Given the description of an element on the screen output the (x, y) to click on. 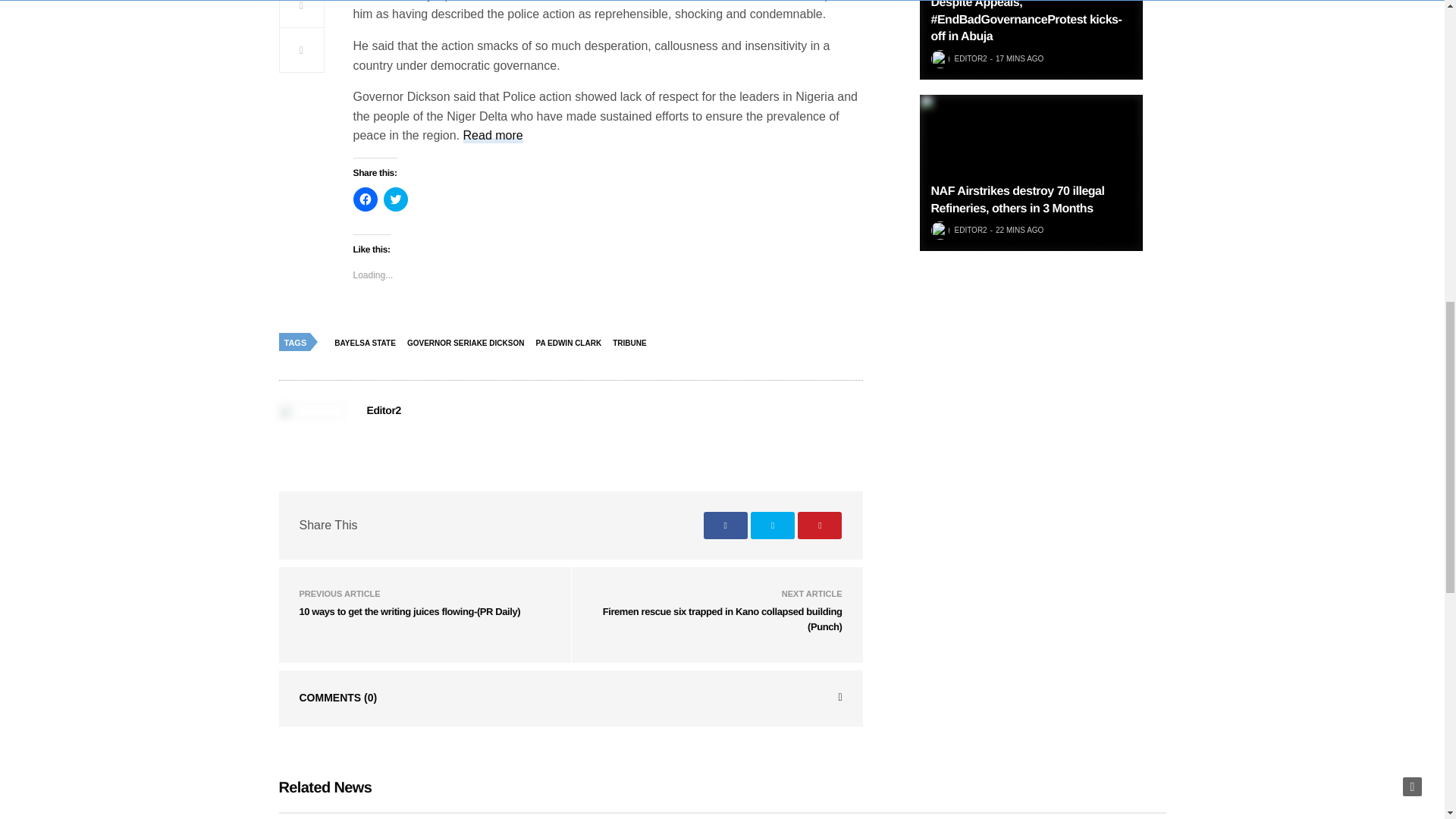
Click to share on Twitter (395, 199)
Click to share on Facebook (365, 199)
Read more (492, 135)
